Given the description of an element on the screen output the (x, y) to click on. 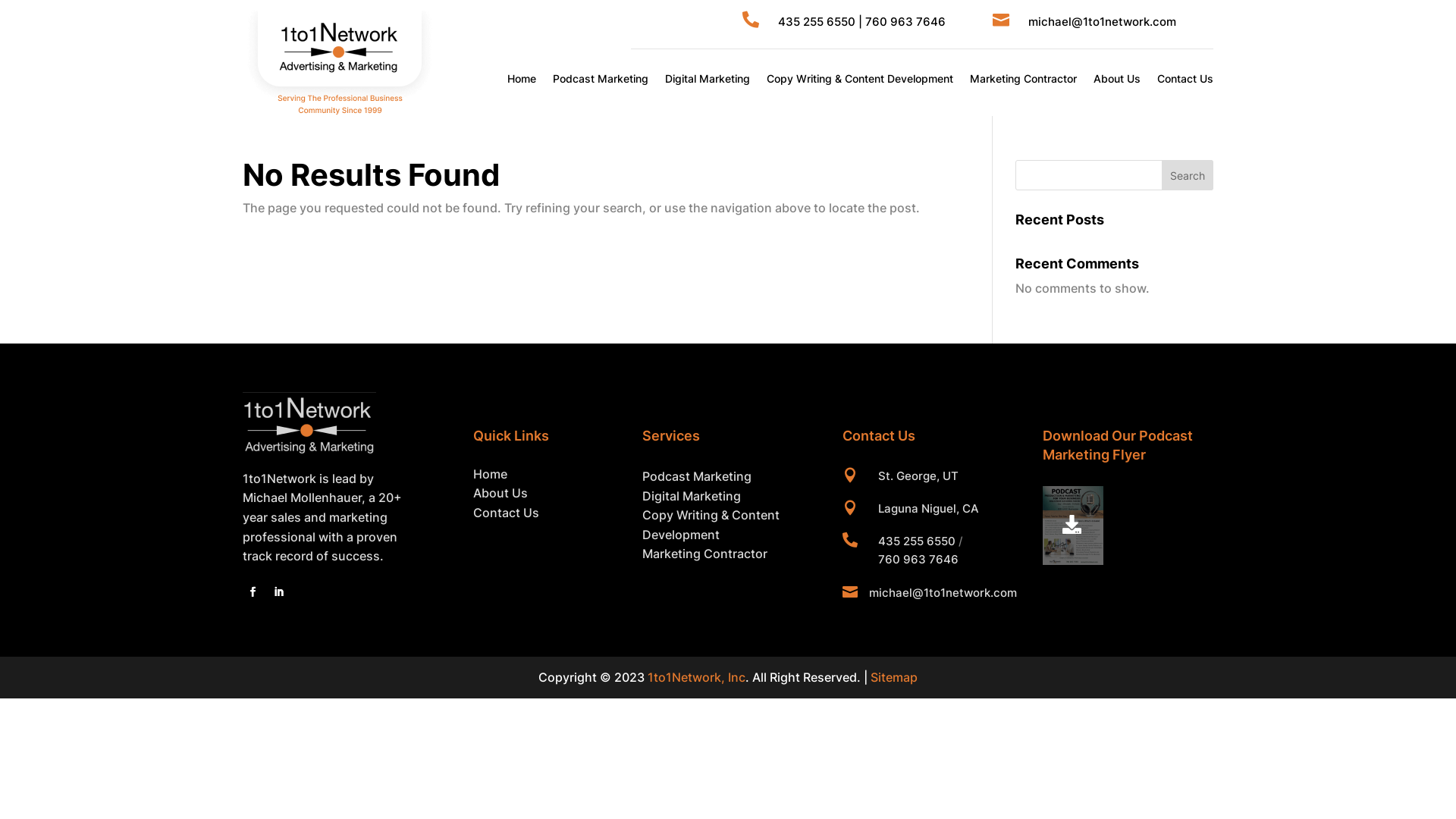
435 255 6550 Element type: text (916, 540)
Copy Writing & Content Development Element type: text (859, 78)
About Us Element type: text (500, 492)
Marketing Contractor Element type: text (1022, 78)
Marketing Contractor Element type: text (704, 553)
Podcast Marketing Element type: text (600, 78)
Podcast Marketing Element type: text (696, 475)
1to1Network, Inc Element type: text (696, 676)
Follow on Amazon Element type: hover (303, 592)
435 255 6550 Element type: text (816, 21)
michael@1to1network.com Element type: text (942, 592)
michael@1to1network.com Element type: text (1102, 21)
Home Element type: text (521, 78)
Copy Writing & Content Development Element type: text (710, 524)
760 963 7646 Element type: text (918, 559)
Laguna Niguel, CA Element type: text (928, 508)
760 963 7646 Element type: text (905, 21)
About Us Element type: text (1116, 78)
Follow on Facebook Element type: hover (252, 592)
Contact Us Element type: text (506, 512)
Search Element type: text (1187, 175)
Follow on LinkedIn Element type: hover (278, 592)
St. George, UT Element type: text (918, 475)
Sitemap Element type: text (893, 676)
Follow on Bandcamp Element type: hover (335, 592)
Contact Us Element type: text (1185, 78)
Home Element type: text (490, 473)
Digital Marketing Element type: text (691, 495)
Digital Marketing Element type: text (707, 78)
